Given the description of an element on the screen output the (x, y) to click on. 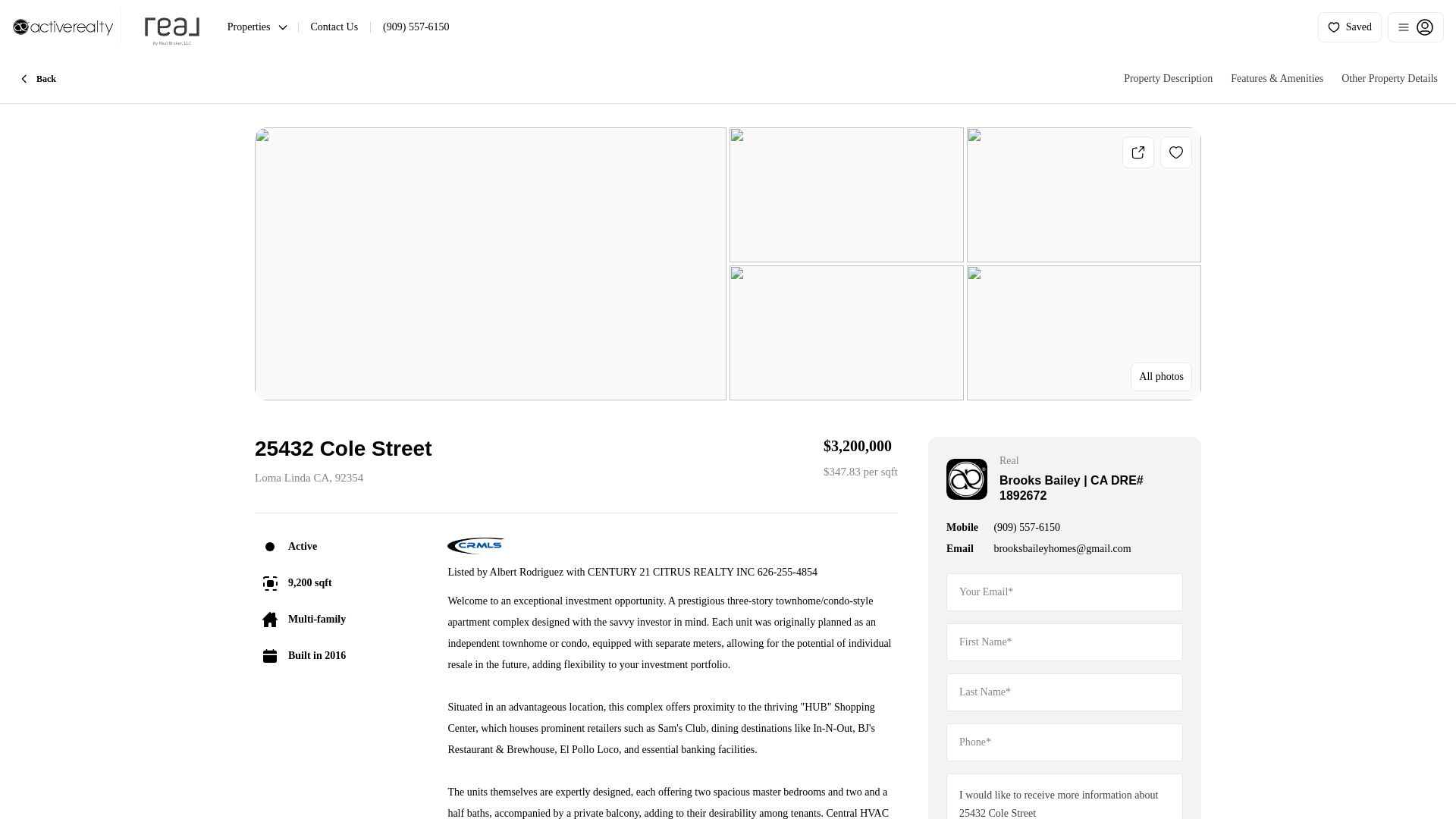
Back (36, 78)
All photos (1161, 376)
Properties (258, 26)
Other Property Details (1389, 78)
Saved (1349, 27)
Contact Us (334, 26)
Property Description (1168, 78)
Go to: Homepage (105, 27)
